Given the description of an element on the screen output the (x, y) to click on. 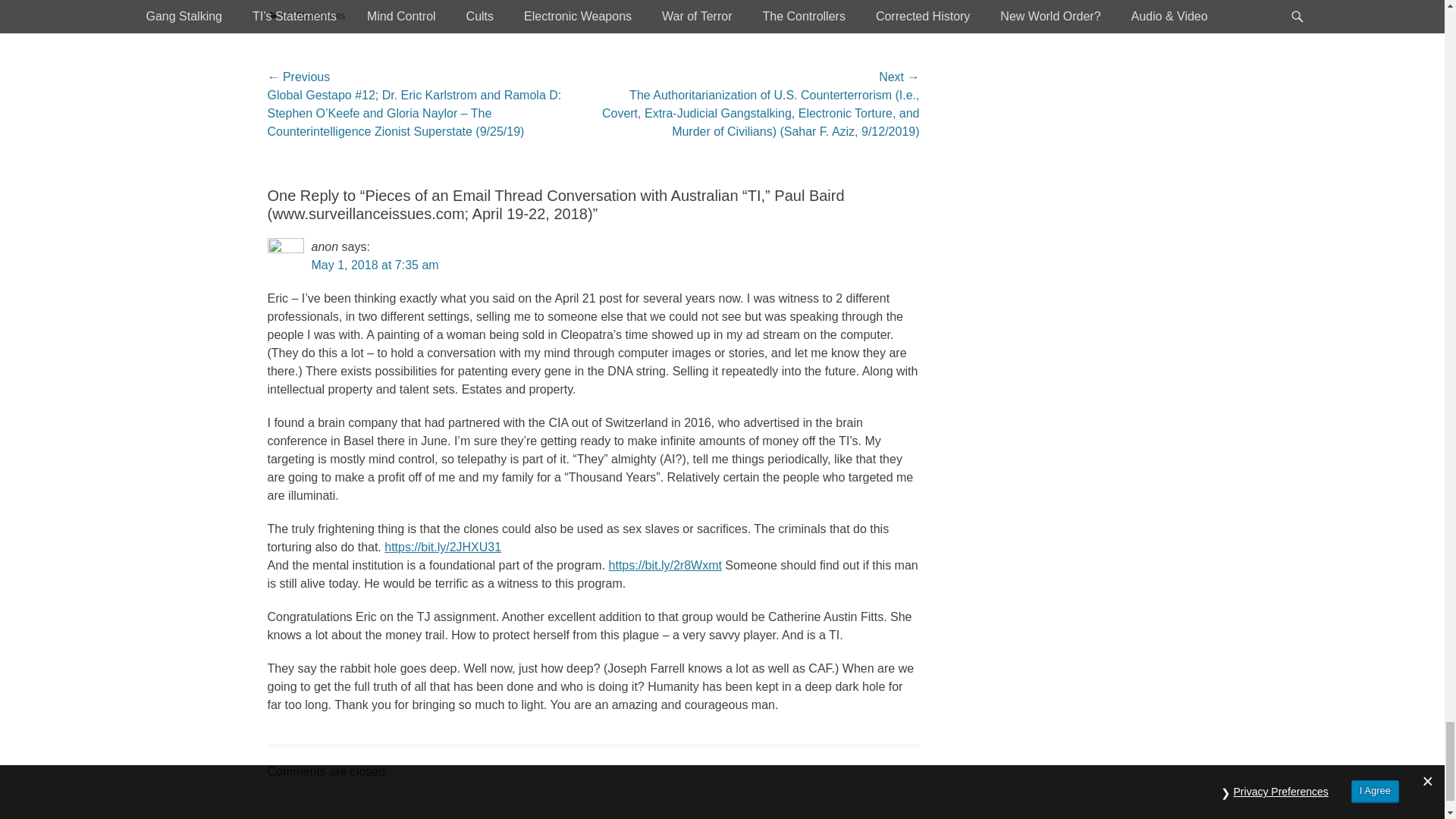
T.I. Statements (305, 15)
May 1, 2018 at 7:35 am (374, 264)
